Given the description of an element on the screen output the (x, y) to click on. 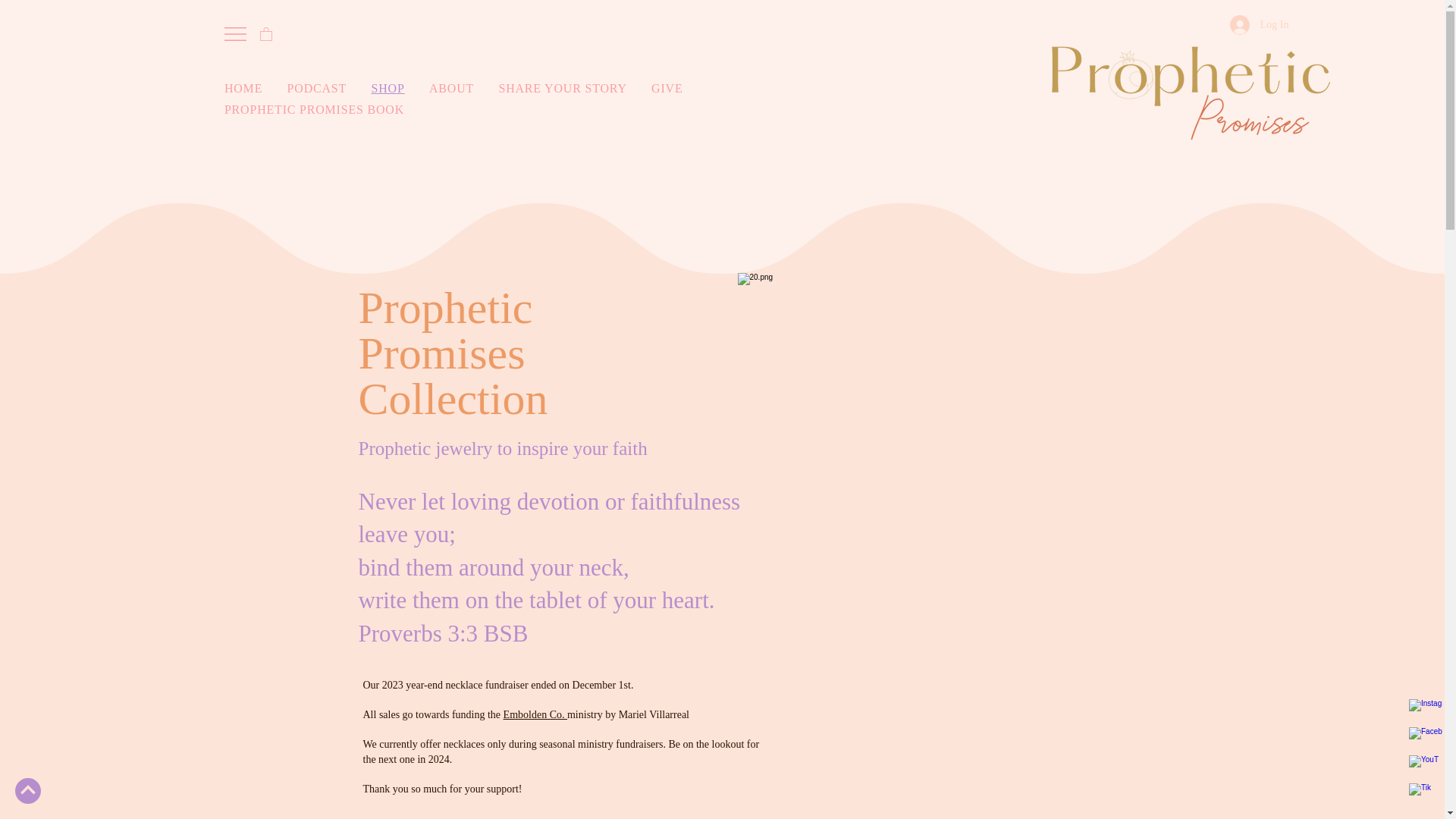
Log In (1260, 24)
ABOUT (459, 88)
Embolden Co. (535, 714)
PROPHETIC PROMISES BOOK (462, 110)
HOME (251, 88)
SHARE YOUR STORY (570, 88)
PODCAST (325, 88)
SHOP (395, 88)
GIVE (675, 88)
